Given the description of an element on the screen output the (x, y) to click on. 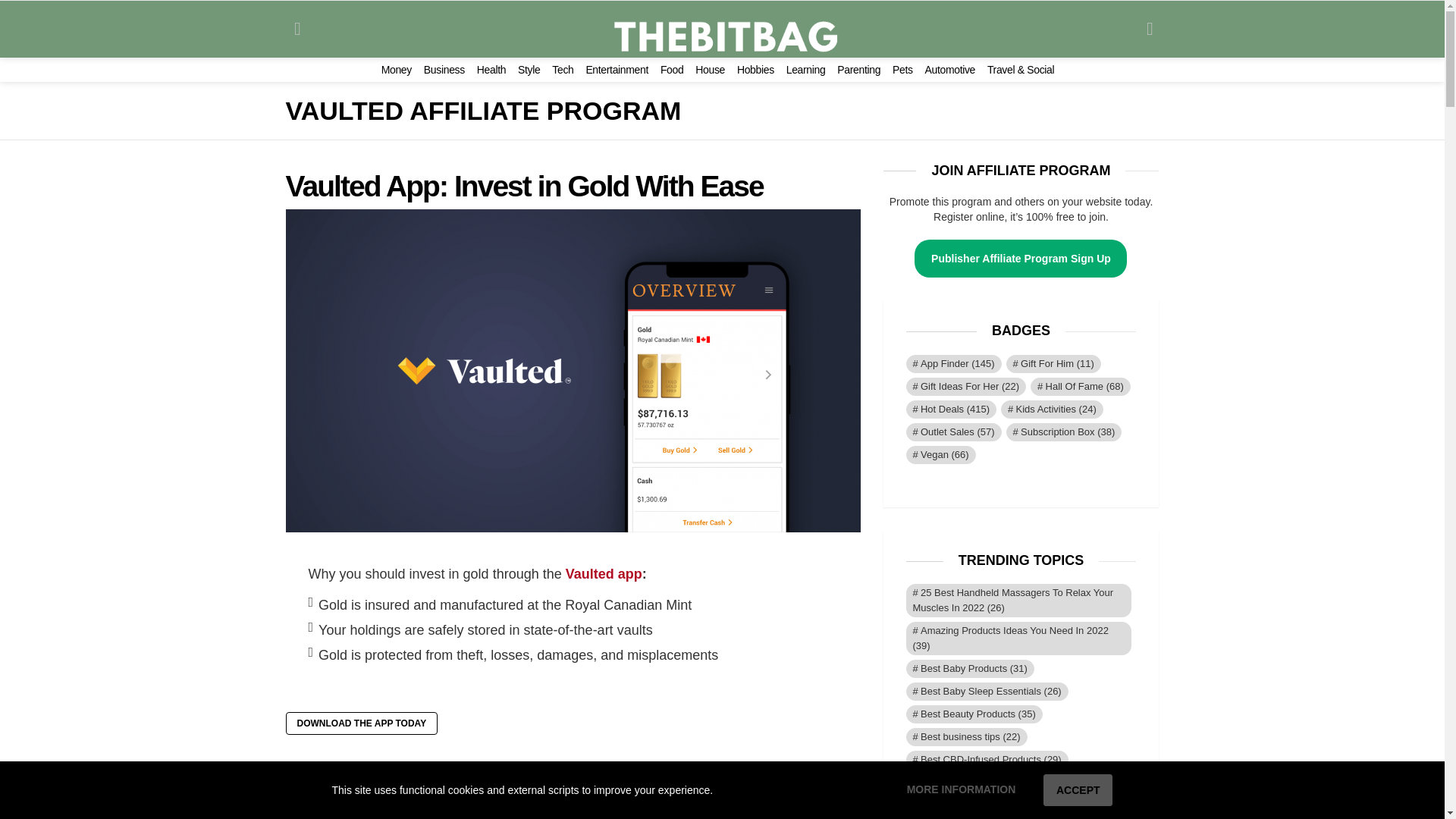
Food (672, 69)
Money (396, 69)
Menu (296, 28)
Vaulted app (604, 573)
Business (443, 69)
DOWNLOAD THE APP TODAY (361, 722)
Vaulted App: Invest in Gold With Ease (523, 185)
Learning (805, 69)
House (710, 69)
MORE INFORMATION (960, 789)
ACCEPT (1077, 789)
Entertainment (616, 69)
Automotive (949, 69)
Parenting (858, 69)
